Given the description of an element on the screen output the (x, y) to click on. 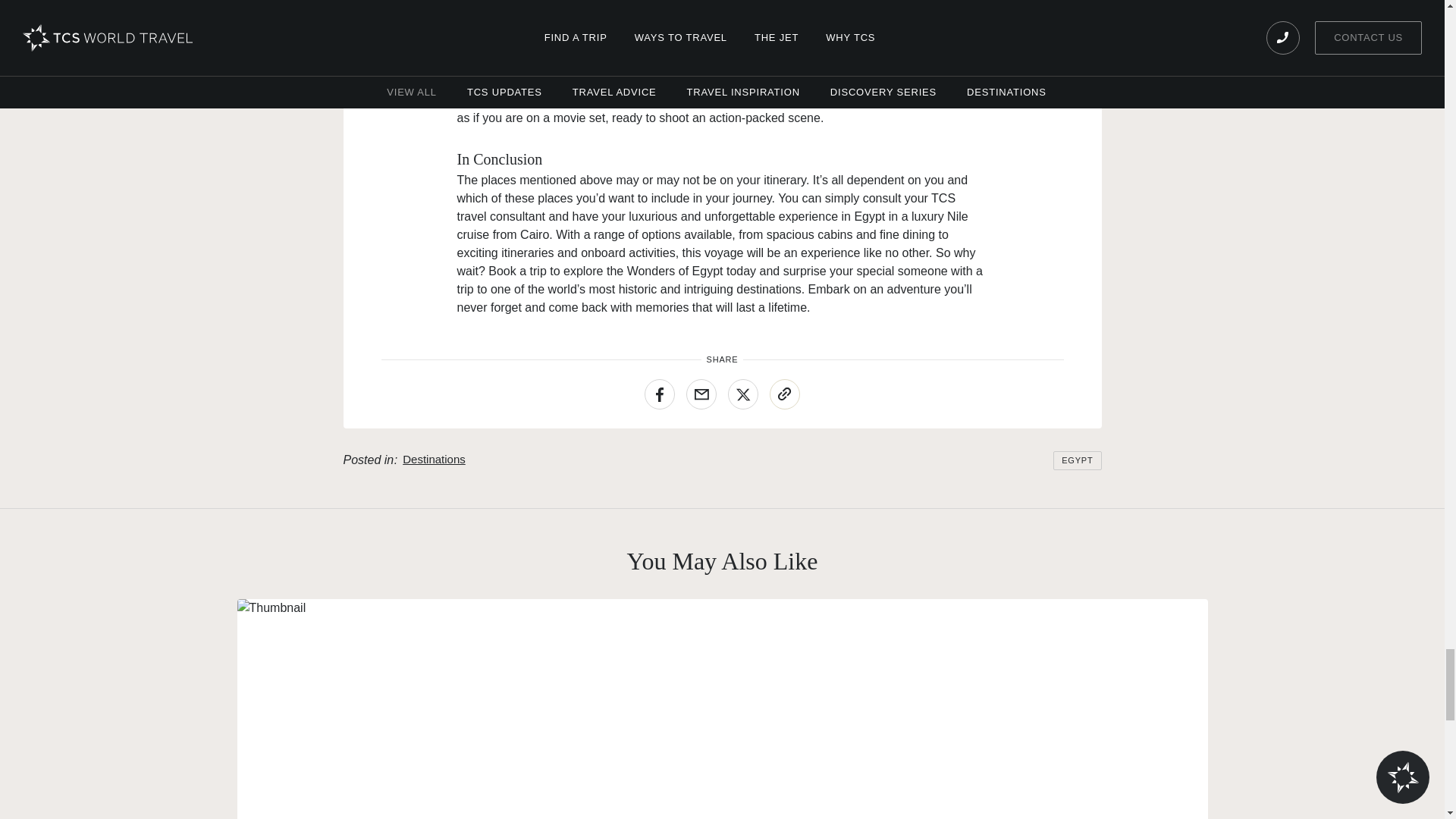
Share on Twitter (743, 394)
Copy Url (784, 394)
Share by Email (700, 394)
Share on Facebook (660, 394)
